Given the description of an element on the screen output the (x, y) to click on. 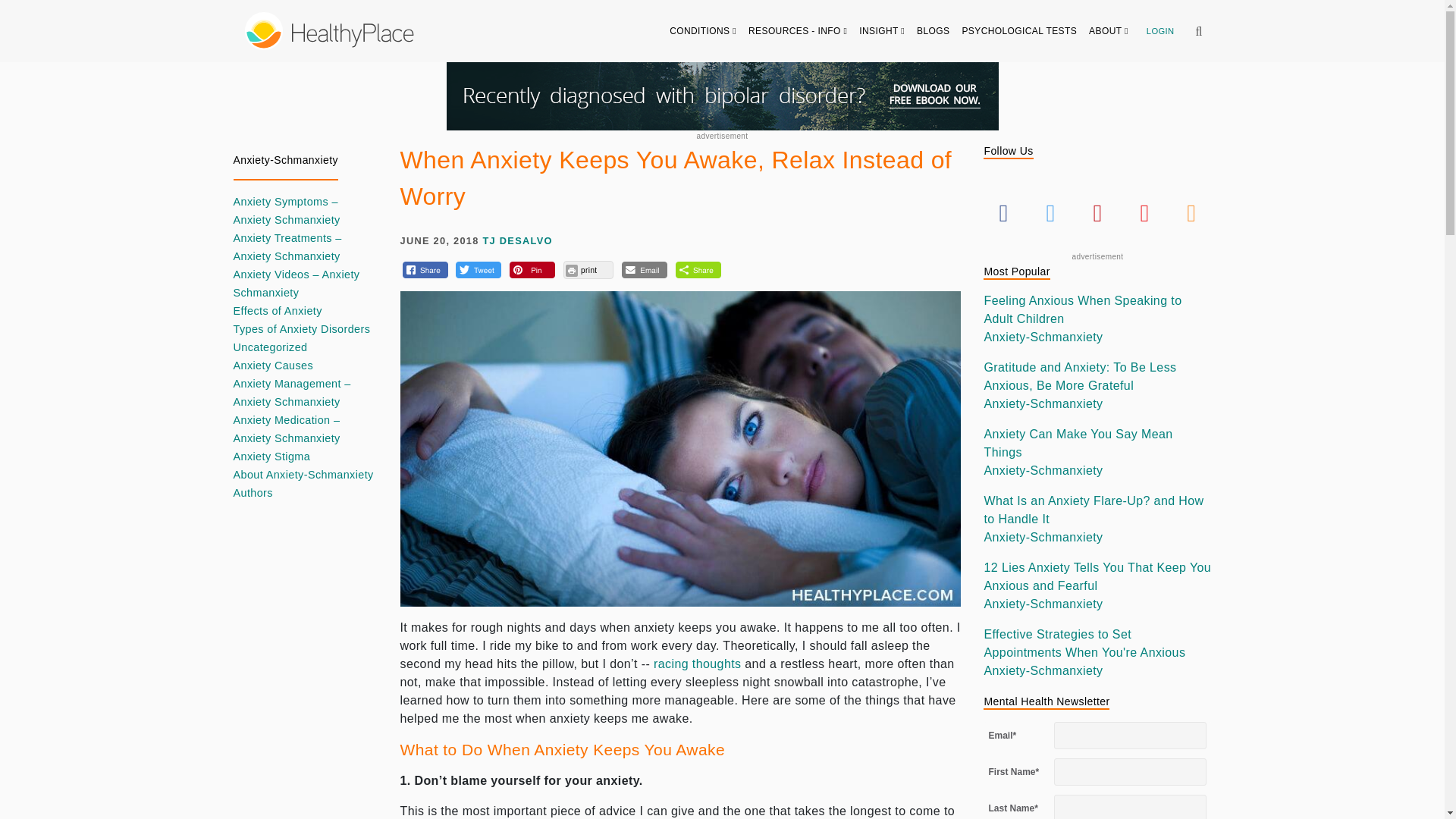
CONDITIONS (702, 31)
Slow Anxiety's Racing Thoughts with Your Senses (697, 663)
Get our free bipolar eBook. Click to download. (721, 96)
RESOURCES - INFO (797, 31)
INSIGHT (882, 31)
